Given the description of an element on the screen output the (x, y) to click on. 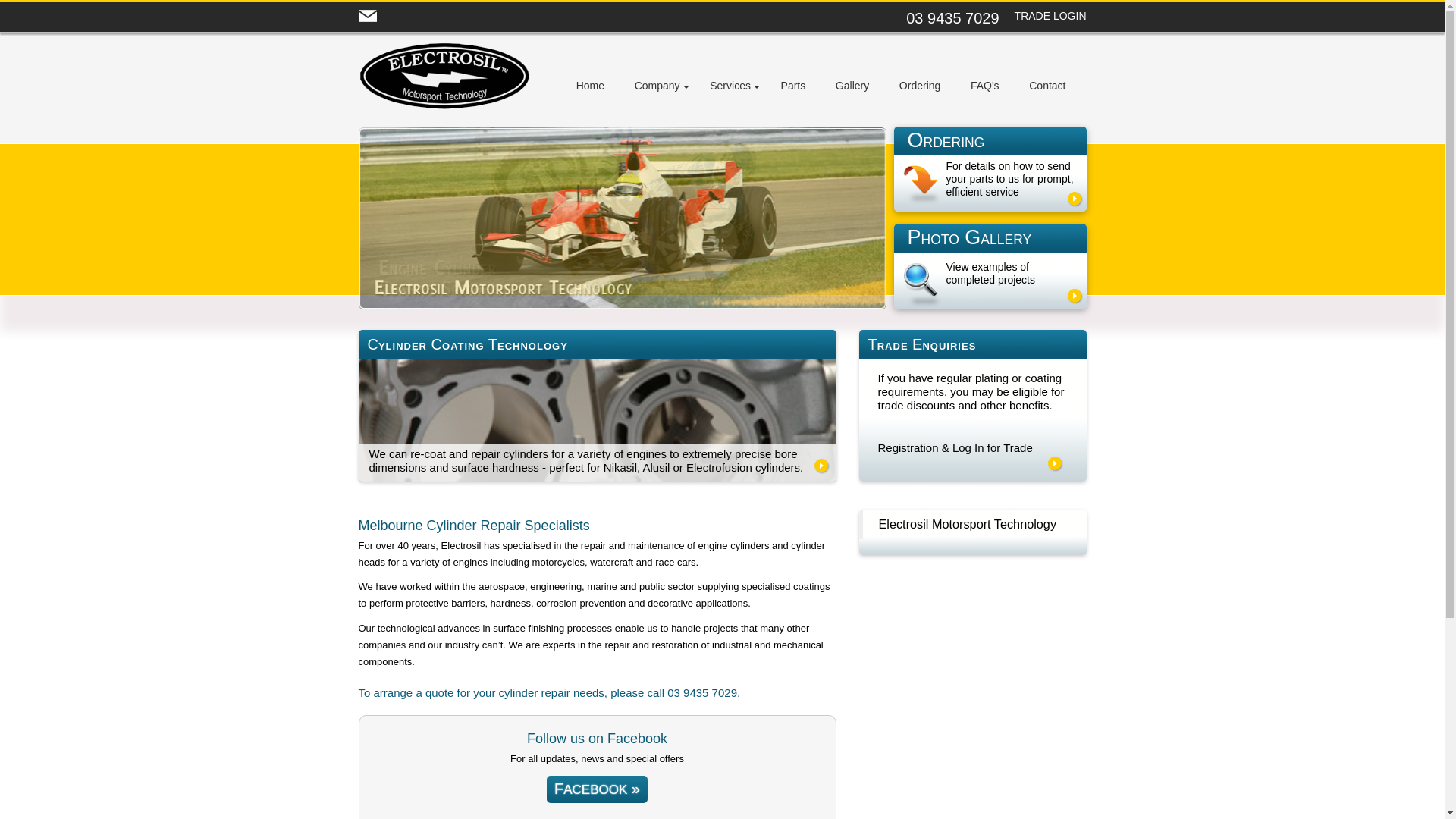
Services Element type: text (729, 85)
more Element type: text (1054, 463)
Company Element type: text (657, 85)
03 9435 7029 Element type: text (702, 692)
Contact Element type: text (1046, 85)
Electrosil Motorsport Technology Element type: text (967, 523)
PHOTO GALLERY
View examples of completed projects
more Element type: text (989, 265)
Registration & Log In for Trade Element type: text (955, 447)
Gallery Element type: text (852, 85)
Parts Element type: text (793, 85)
FAQ's Element type: text (984, 85)
Home Element type: text (590, 85)
TRADE LOGIN Element type: text (1050, 16)
Ordering Element type: text (919, 85)
03 9435 7029 Element type: text (952, 17)
